Given the description of an element on the screen output the (x, y) to click on. 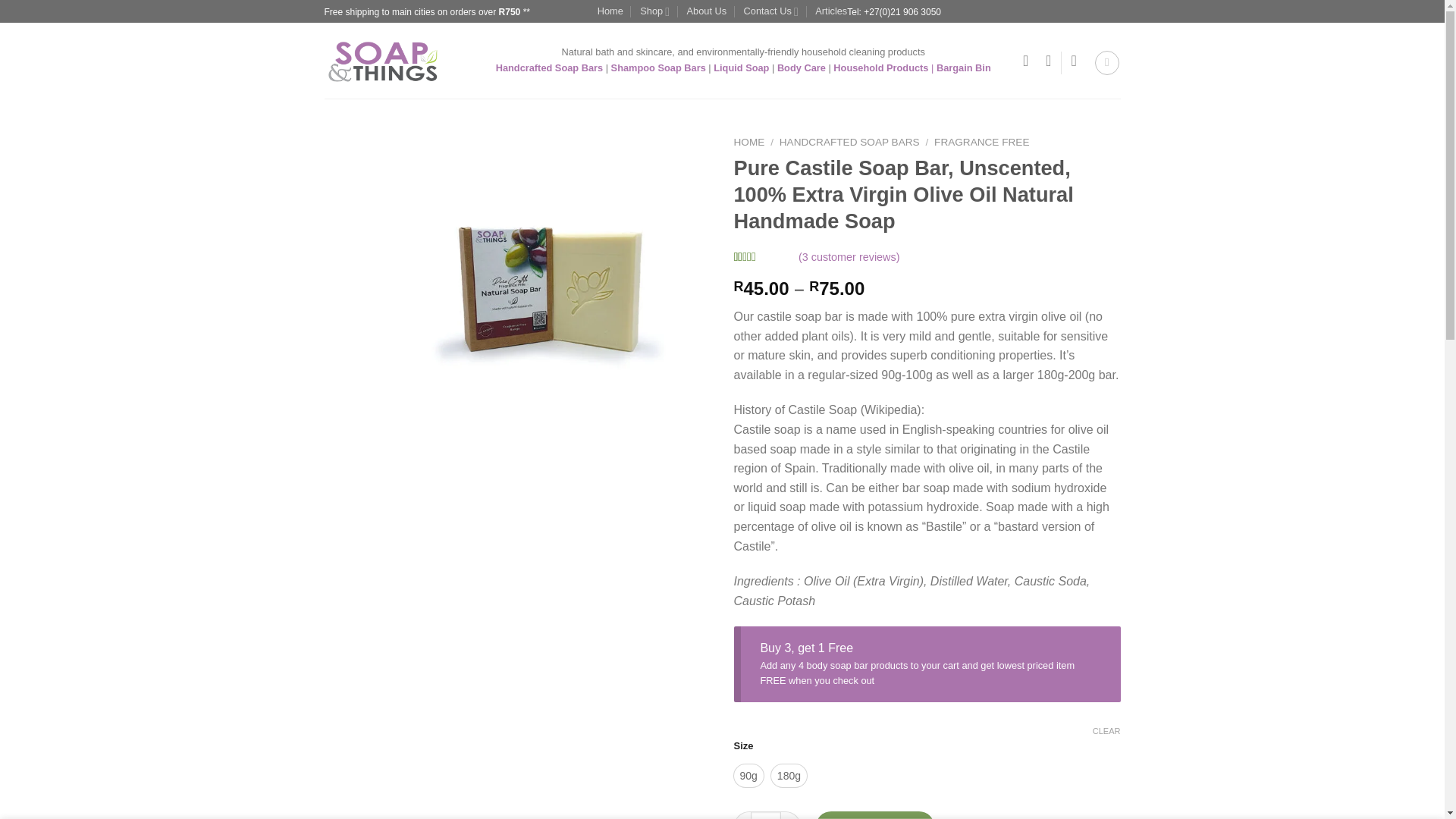
Articles (831, 11)
180g (788, 775)
Home (609, 11)
Shop (654, 11)
- (742, 815)
90g (747, 775)
About Us (706, 11)
Contact Us (770, 11)
1 (765, 815)
